Given the description of an element on the screen output the (x, y) to click on. 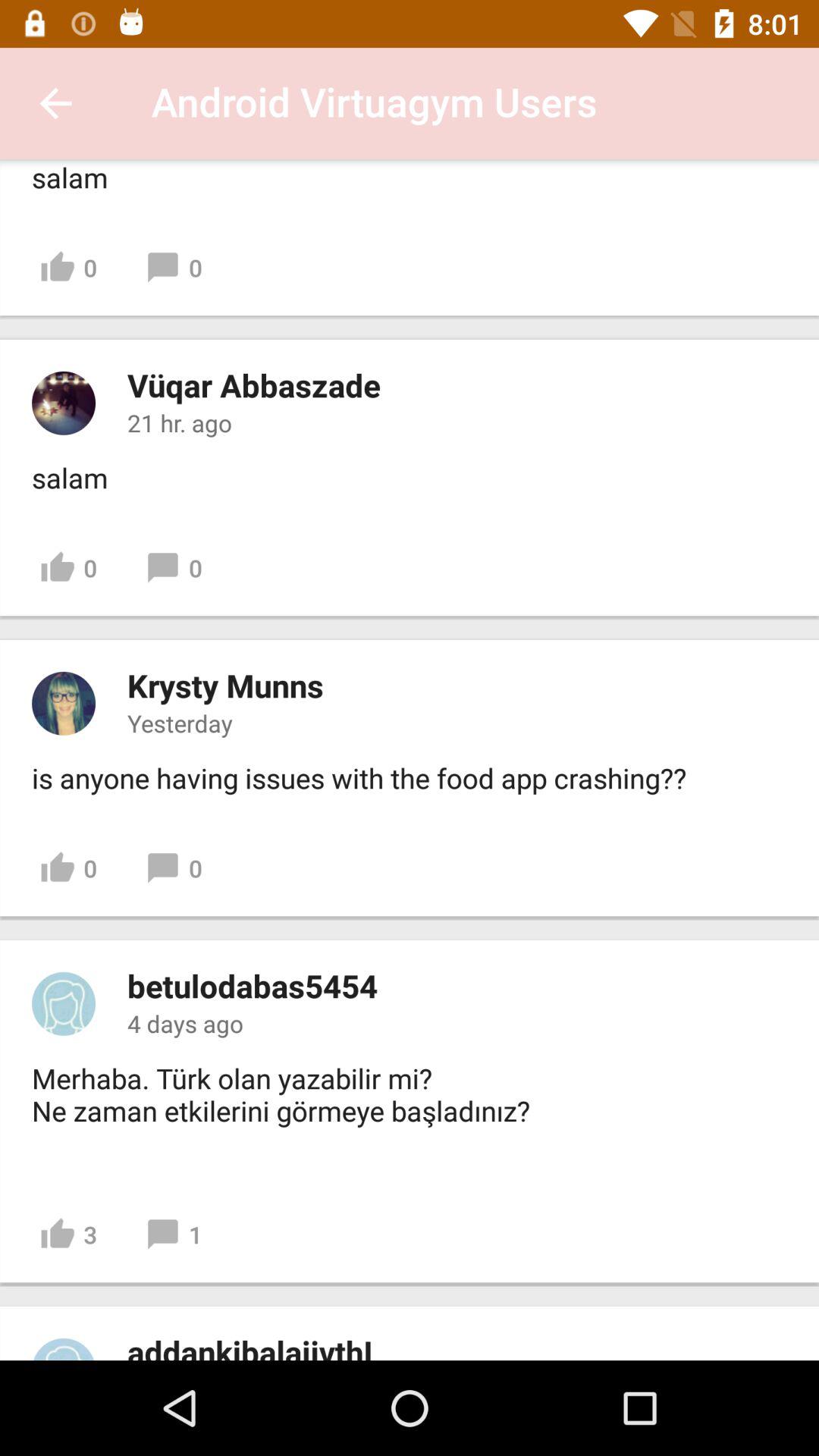
avatar icon (63, 1003)
